Given the description of an element on the screen output the (x, y) to click on. 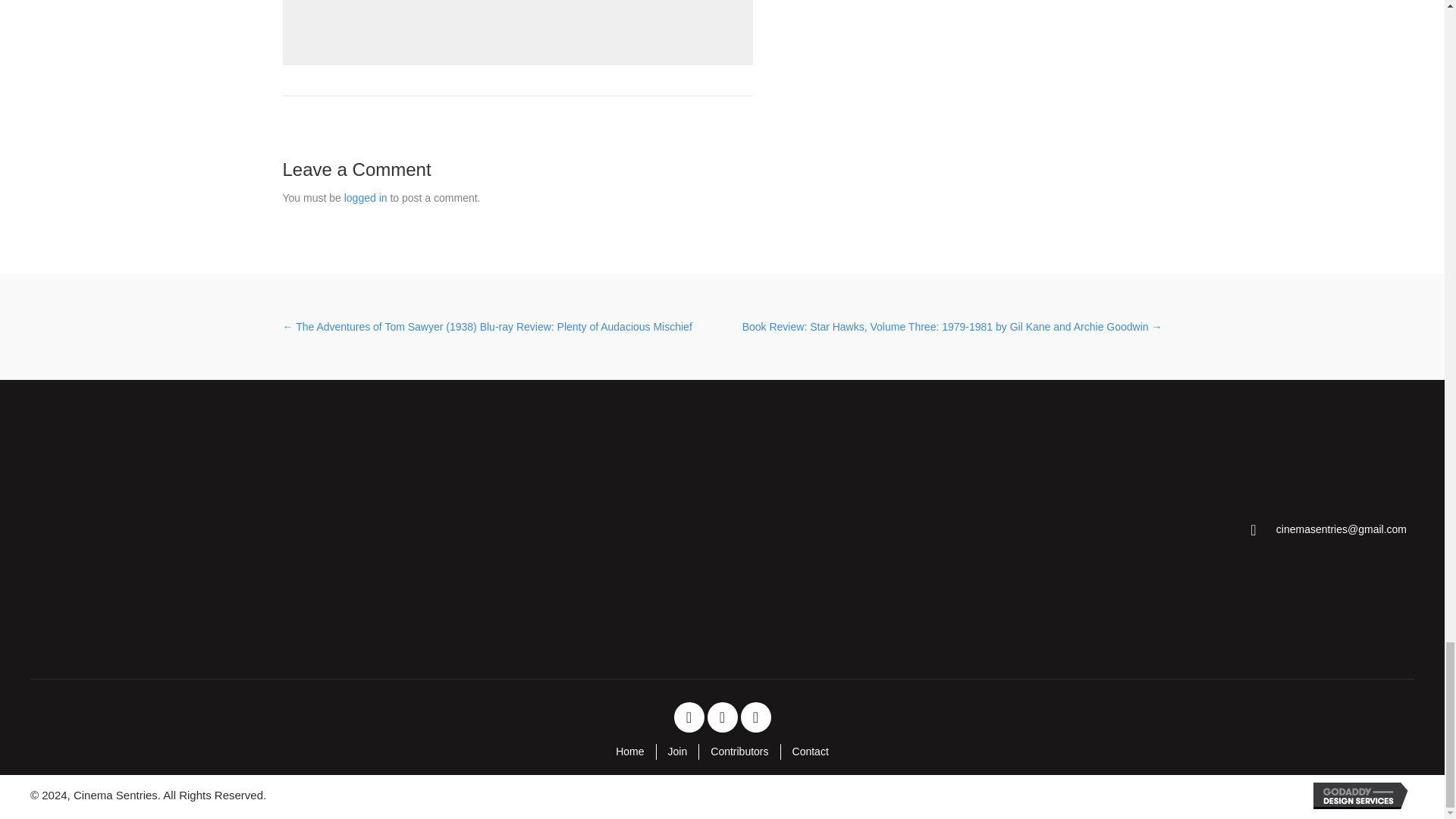
logged in (365, 197)
Cinema Sentries (148, 529)
Twitter (721, 716)
Instagram (754, 716)
Facebook (687, 716)
